Given the description of an element on the screen output the (x, y) to click on. 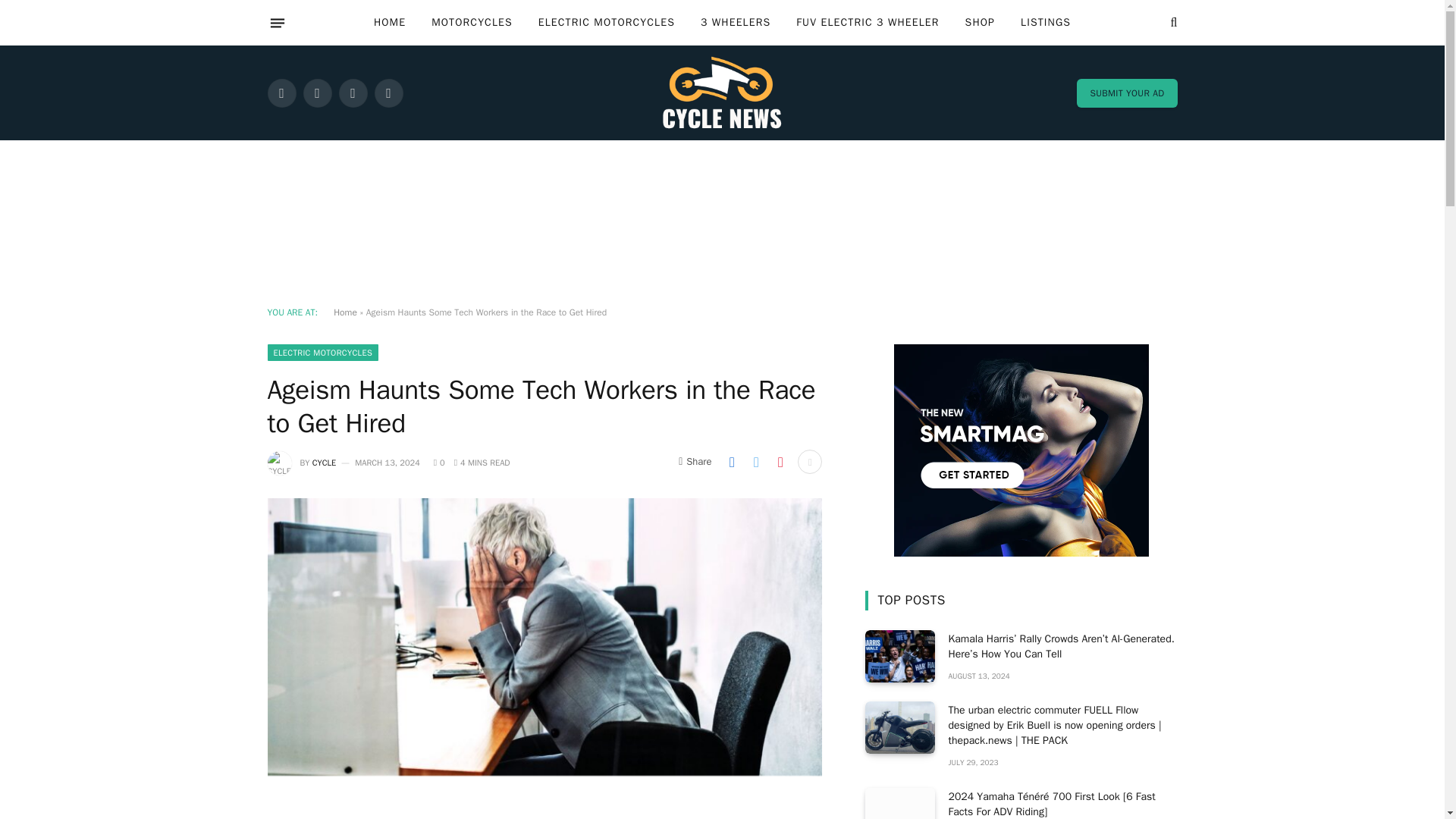
Instagram (351, 92)
SUBMIT YOUR AD (1126, 92)
FUV ELECTRIC 3 WHEELER (867, 22)
MOTORCYCLES (472, 22)
ELECTRIC MOTORCYCLES (606, 22)
Twitter (316, 92)
Facebook (280, 92)
Posts by cycle (324, 462)
Home (344, 312)
3 WHEELERS (735, 22)
